Given the description of an element on the screen output the (x, y) to click on. 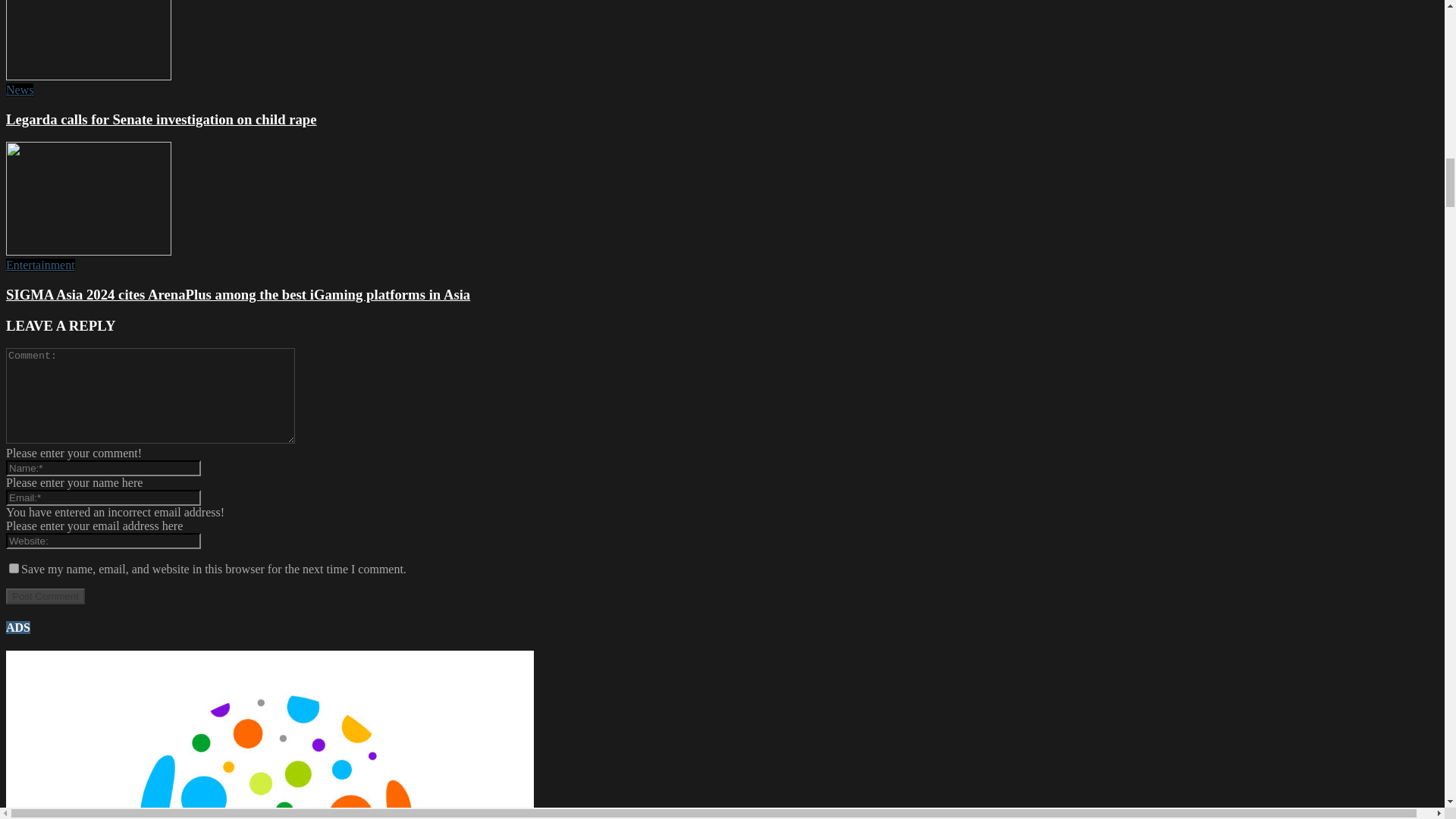
Post Comment (44, 596)
yes (13, 568)
